Given the description of an element on the screen output the (x, y) to click on. 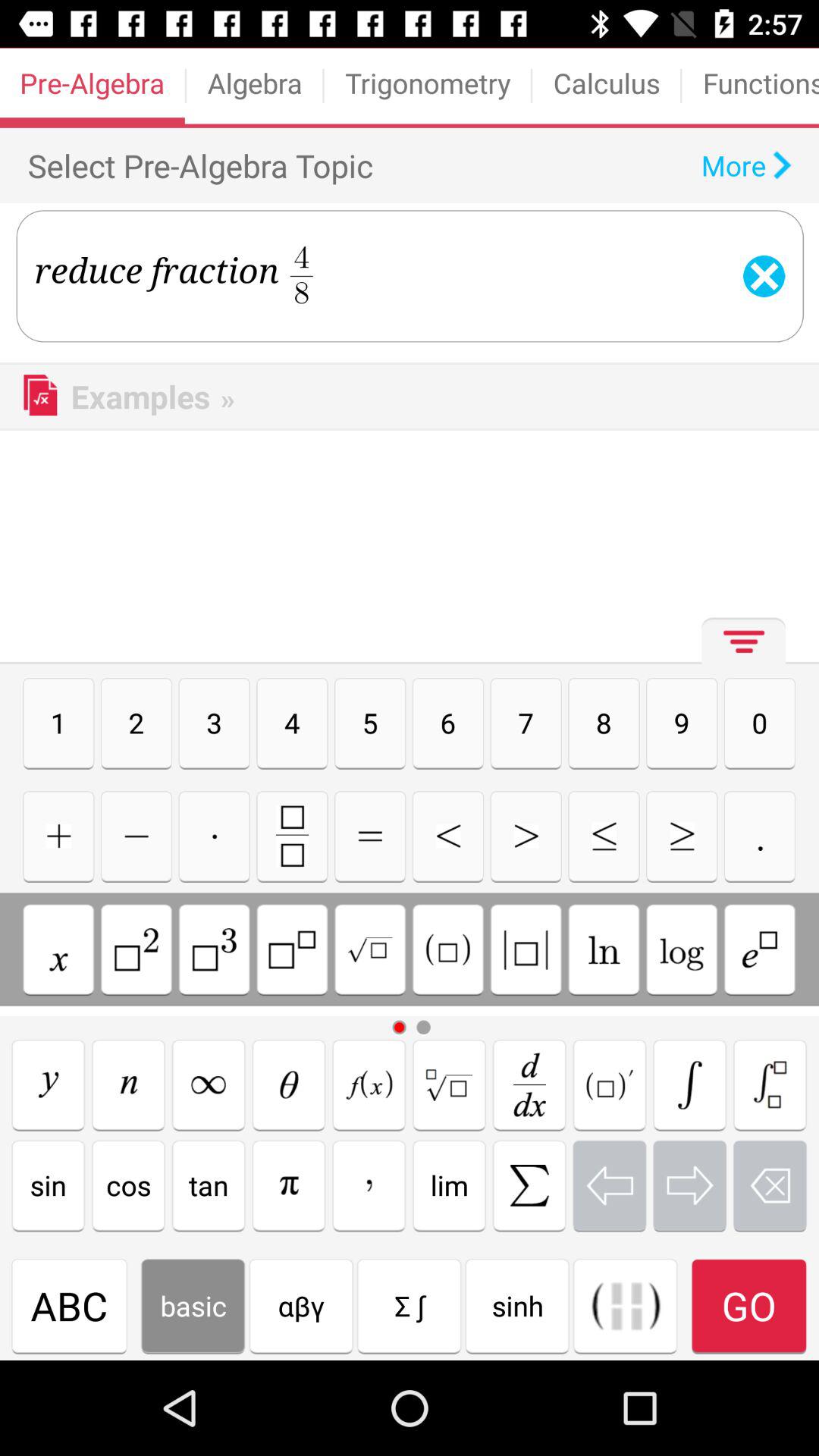
raise to a power (292, 949)
